Given the description of an element on the screen output the (x, y) to click on. 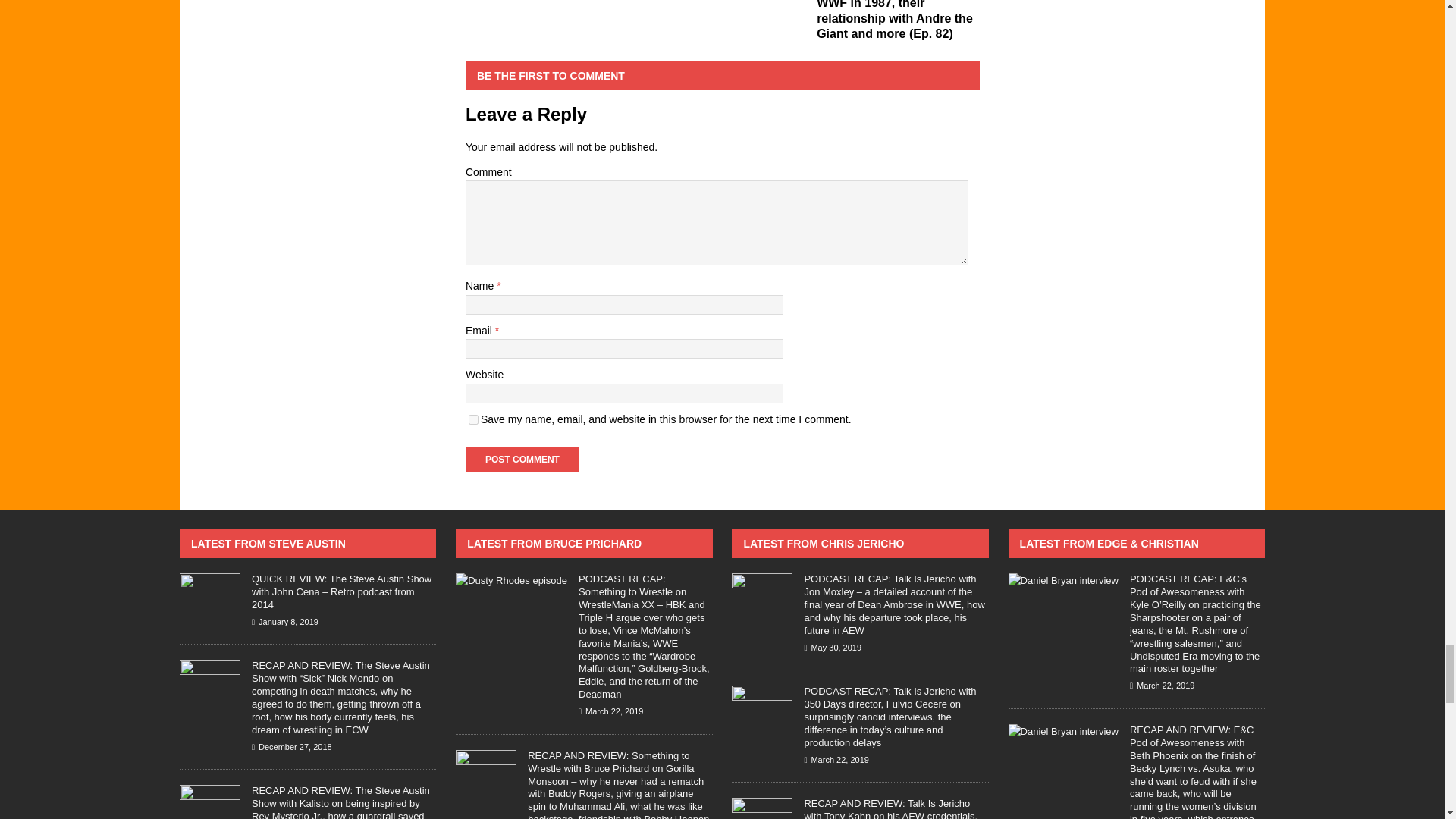
Post Comment (522, 459)
yes (473, 419)
